Given the description of an element on the screen output the (x, y) to click on. 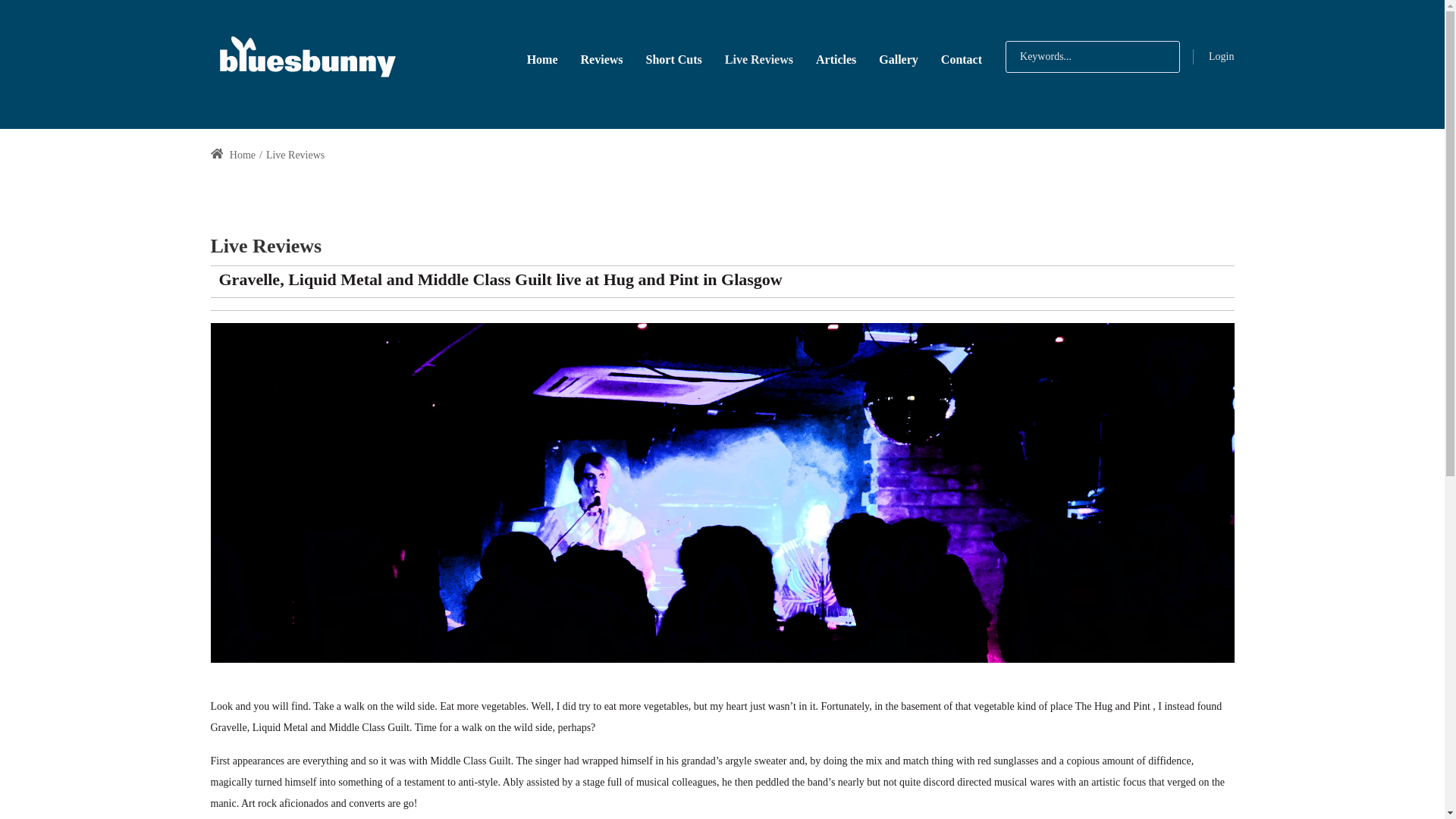
Bluesbunny Independent Music Reviews (305, 56)
Short Cuts (673, 56)
Home (542, 56)
Live Reviews (759, 56)
Login (1220, 56)
Reviews (601, 56)
Home (233, 154)
Live Reviews (295, 154)
Contact (961, 56)
Gallery (898, 56)
